Given the description of an element on the screen output the (x, y) to click on. 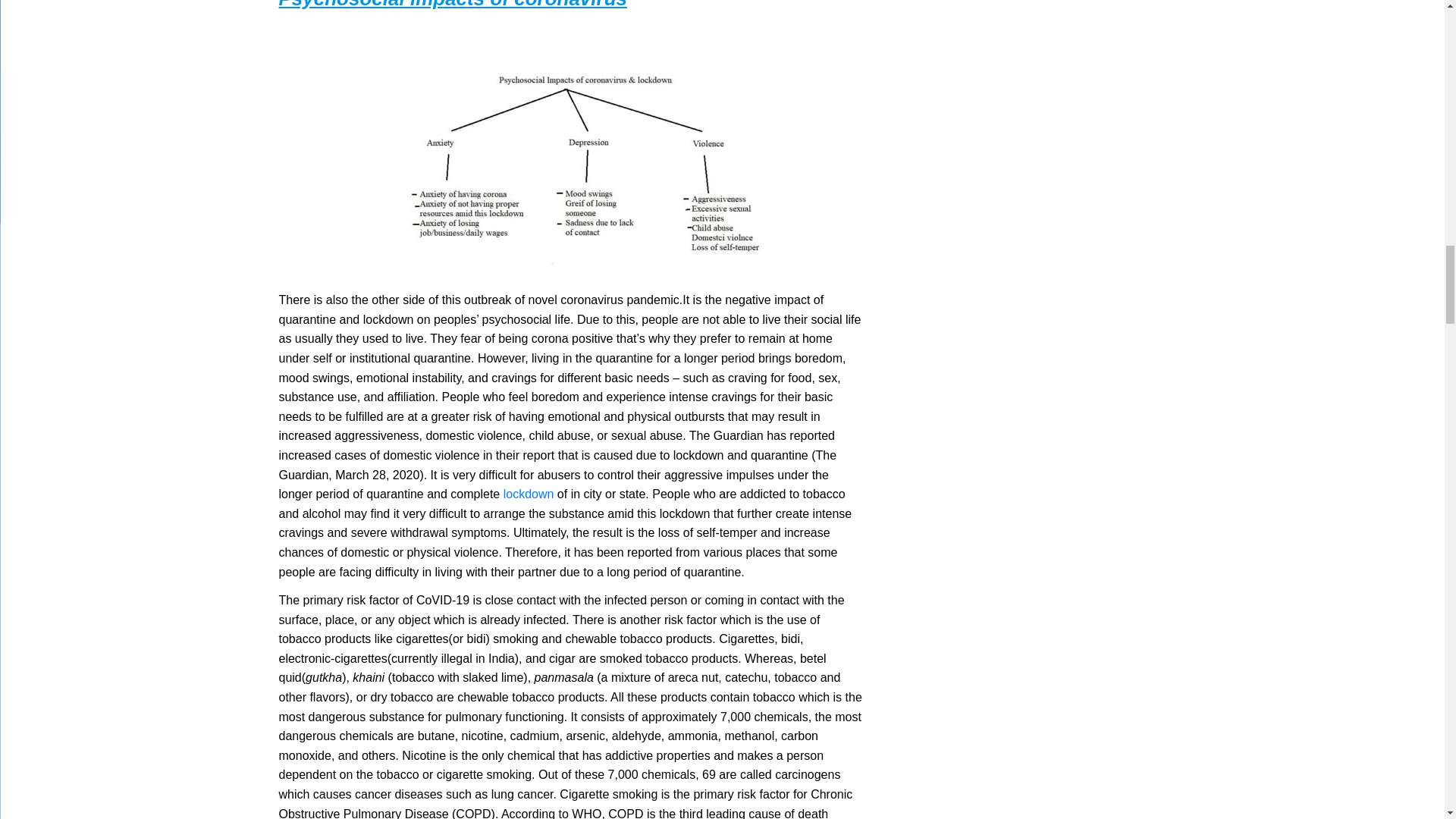
lockdown (528, 493)
